Given the description of an element on the screen output the (x, y) to click on. 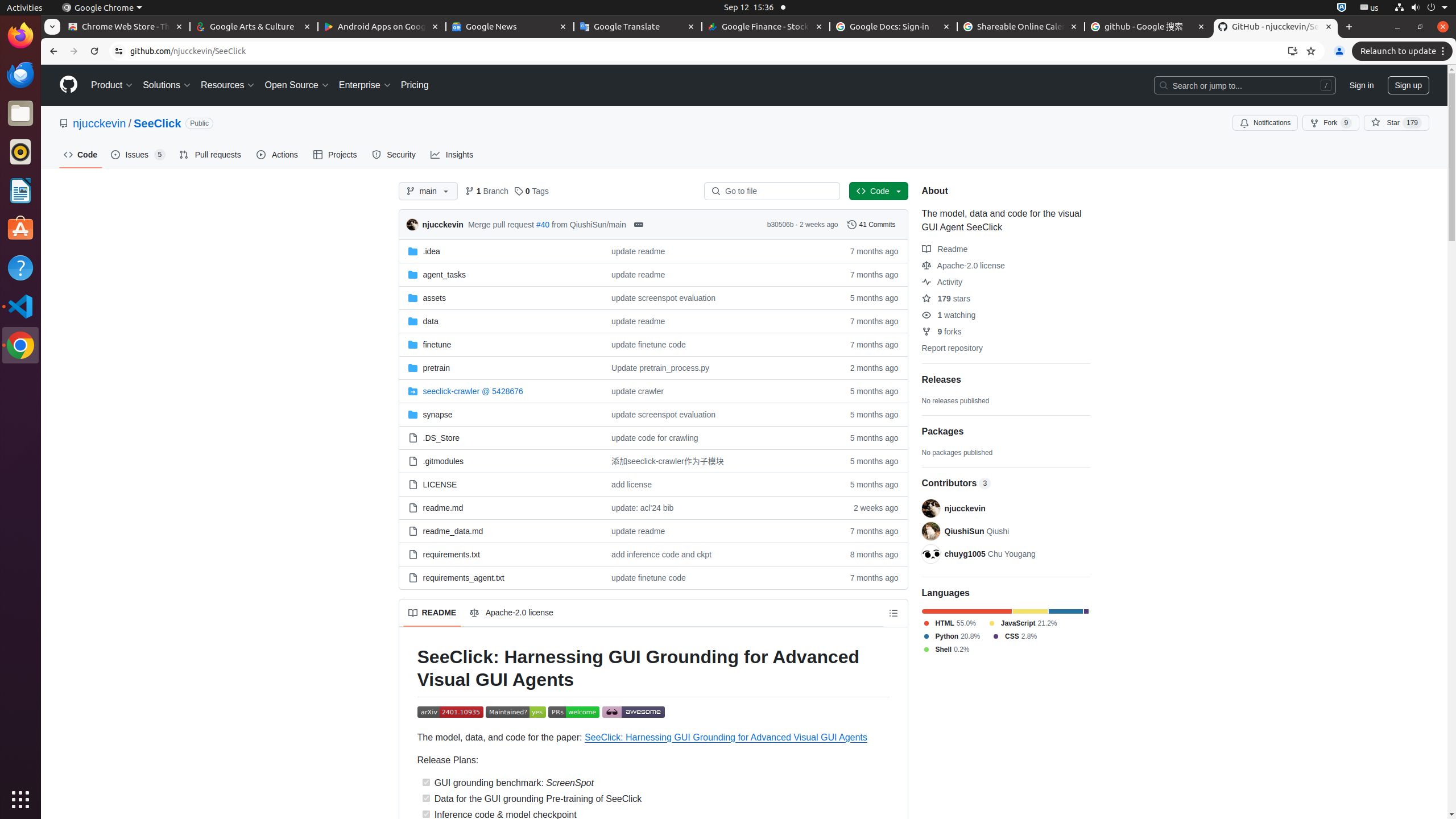
.idea, (Directory) Element type: table-cell (500, 250)
Merge pull request Element type: link (500, 224)
添加seeclick-crawler作为子模块 Element type: table-cell (716, 460)
pretrain, (Directory) Element type: table-cell (500, 367)
update screenspot evaluation Element type: link (663, 297)
